Given the description of an element on the screen output the (x, y) to click on. 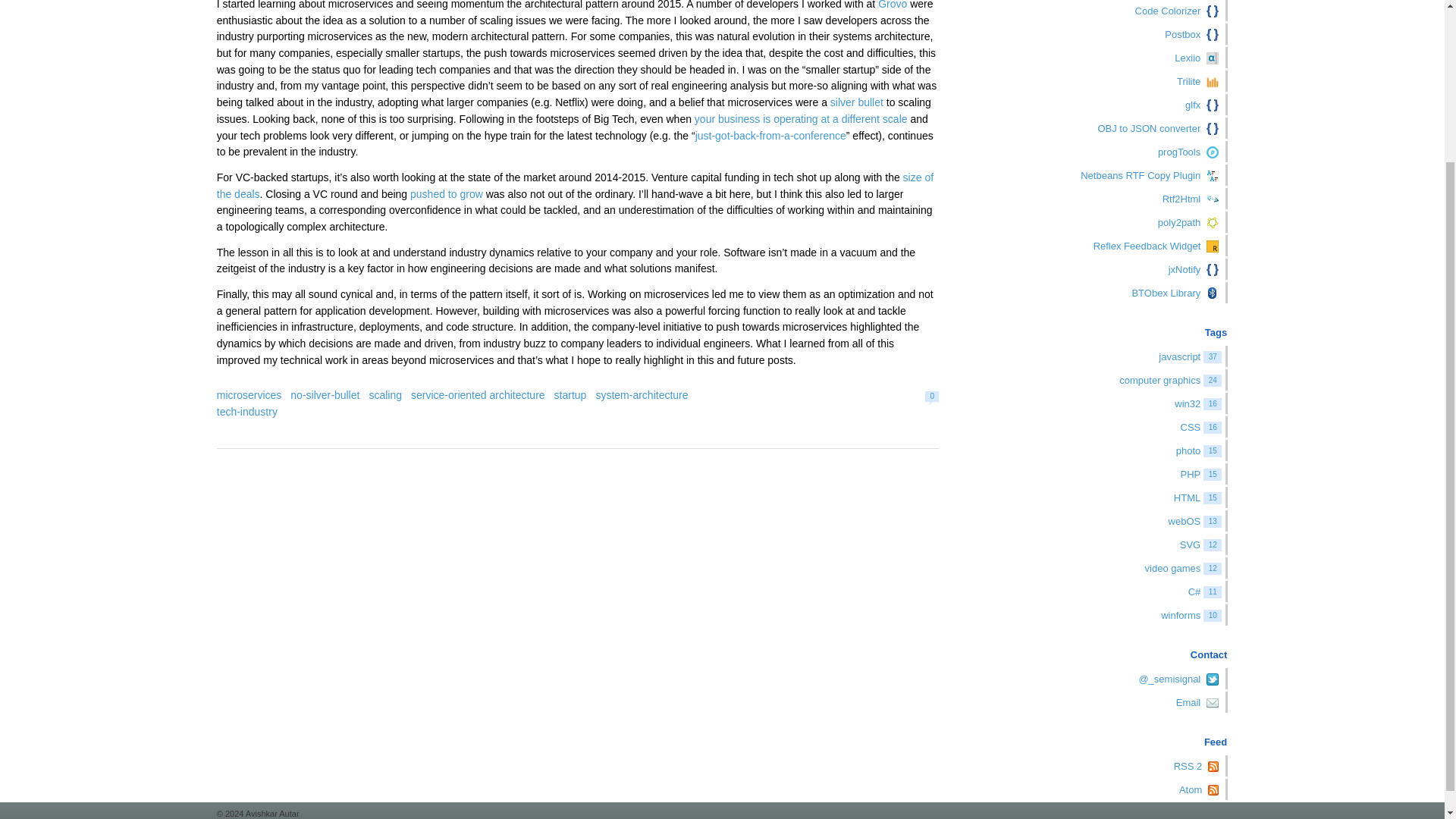
microservices (249, 395)
Netbeans RTF Copy Plugin (1117, 174)
just-got-back-from-a-conference (770, 135)
size of the deals (574, 185)
PHP15 (1117, 473)
pushed to grow (446, 193)
Trilite (1117, 80)
poly2path (1117, 221)
no-silver-bullet (324, 395)
scaling (384, 395)
Grovo (892, 4)
progTools (1117, 151)
win3216 (1117, 403)
OBJ to JSON converter (1117, 127)
Lexiio (1117, 56)
